Given the description of an element on the screen output the (x, y) to click on. 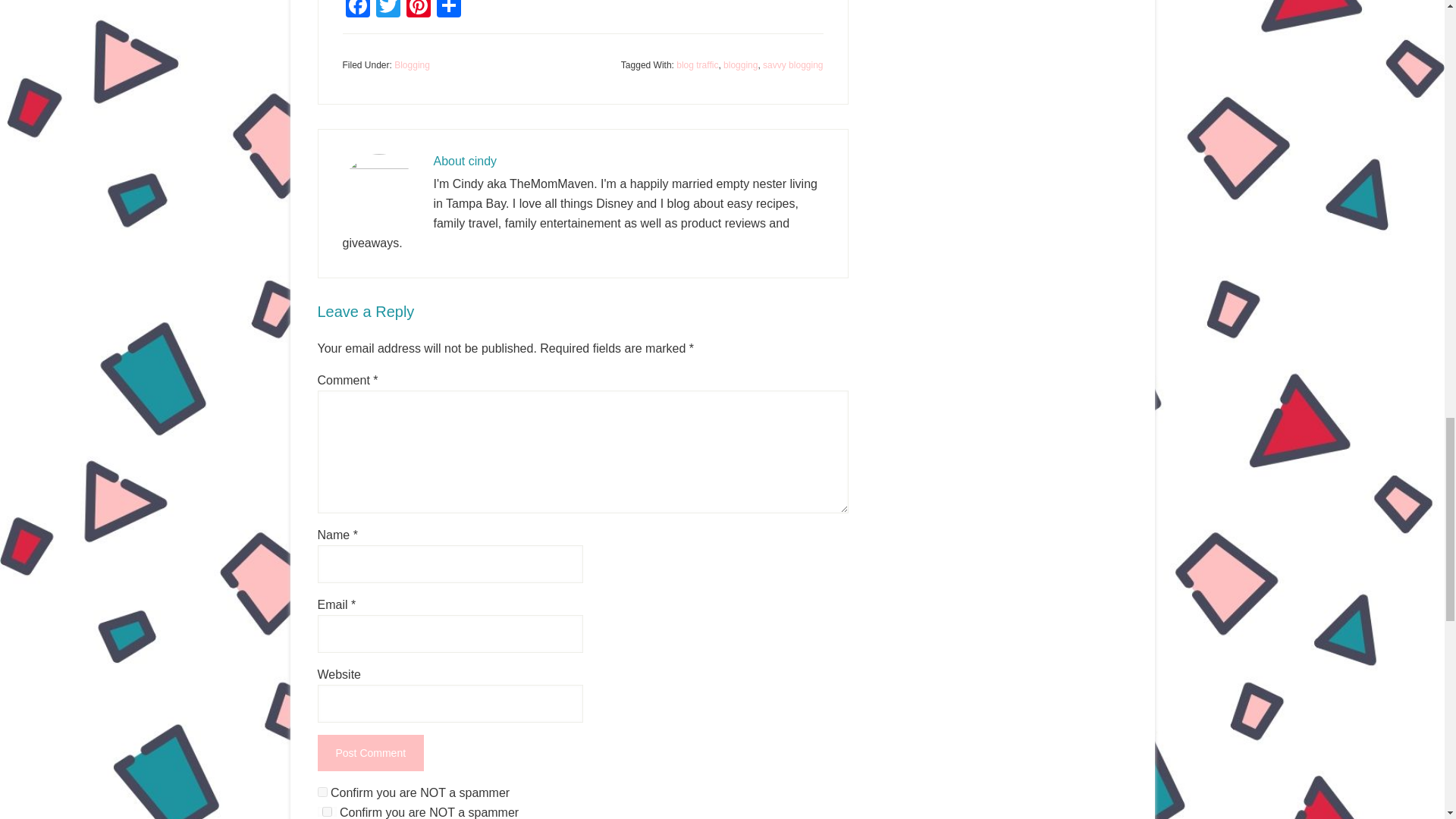
Pinterest (418, 10)
Twitter (387, 10)
Facebook (357, 10)
Post Comment (370, 752)
on (326, 811)
on (321, 791)
